Given the description of an element on the screen output the (x, y) to click on. 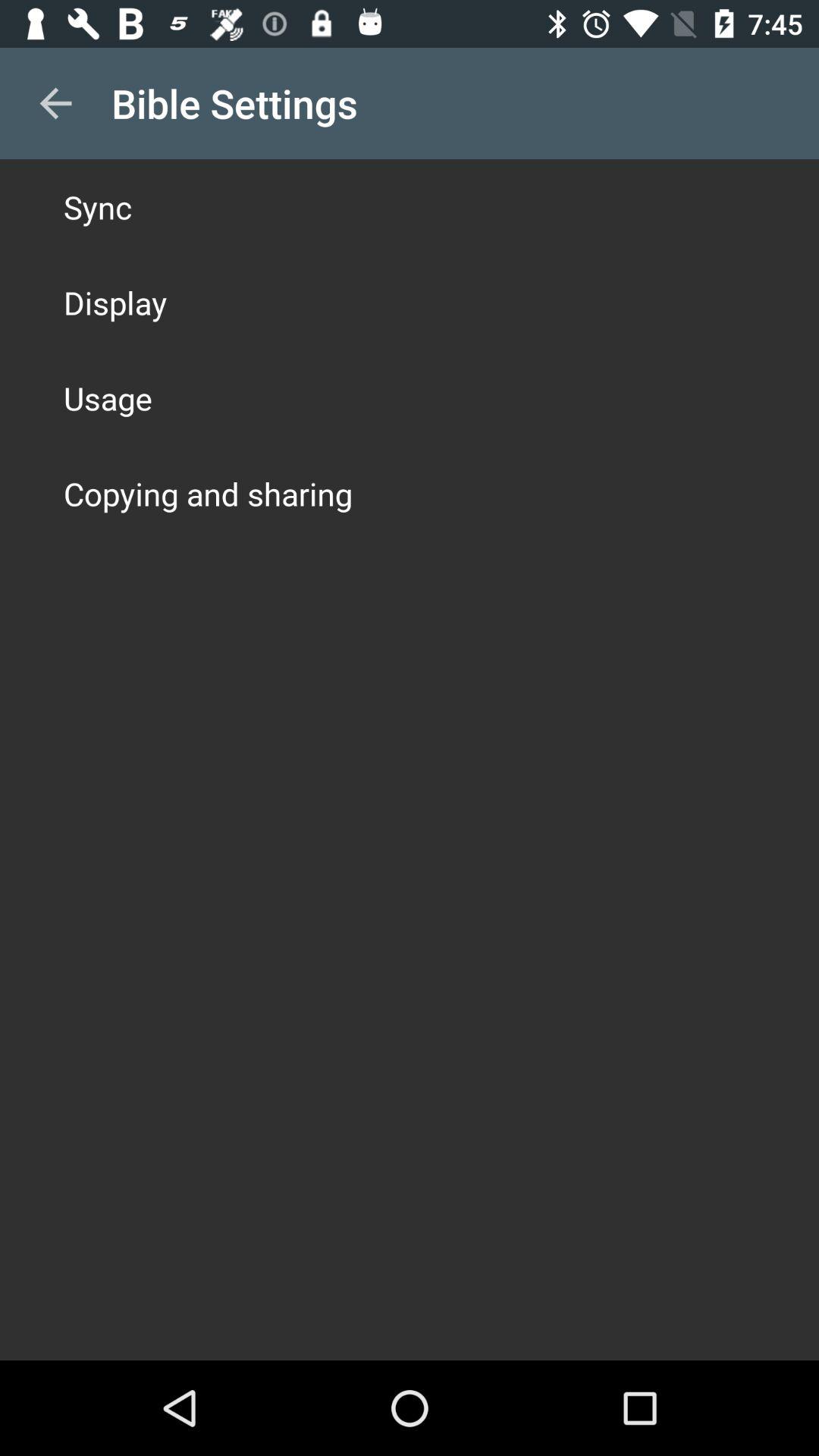
turn off icon to the left of the bible settings (55, 103)
